Given the description of an element on the screen output the (x, y) to click on. 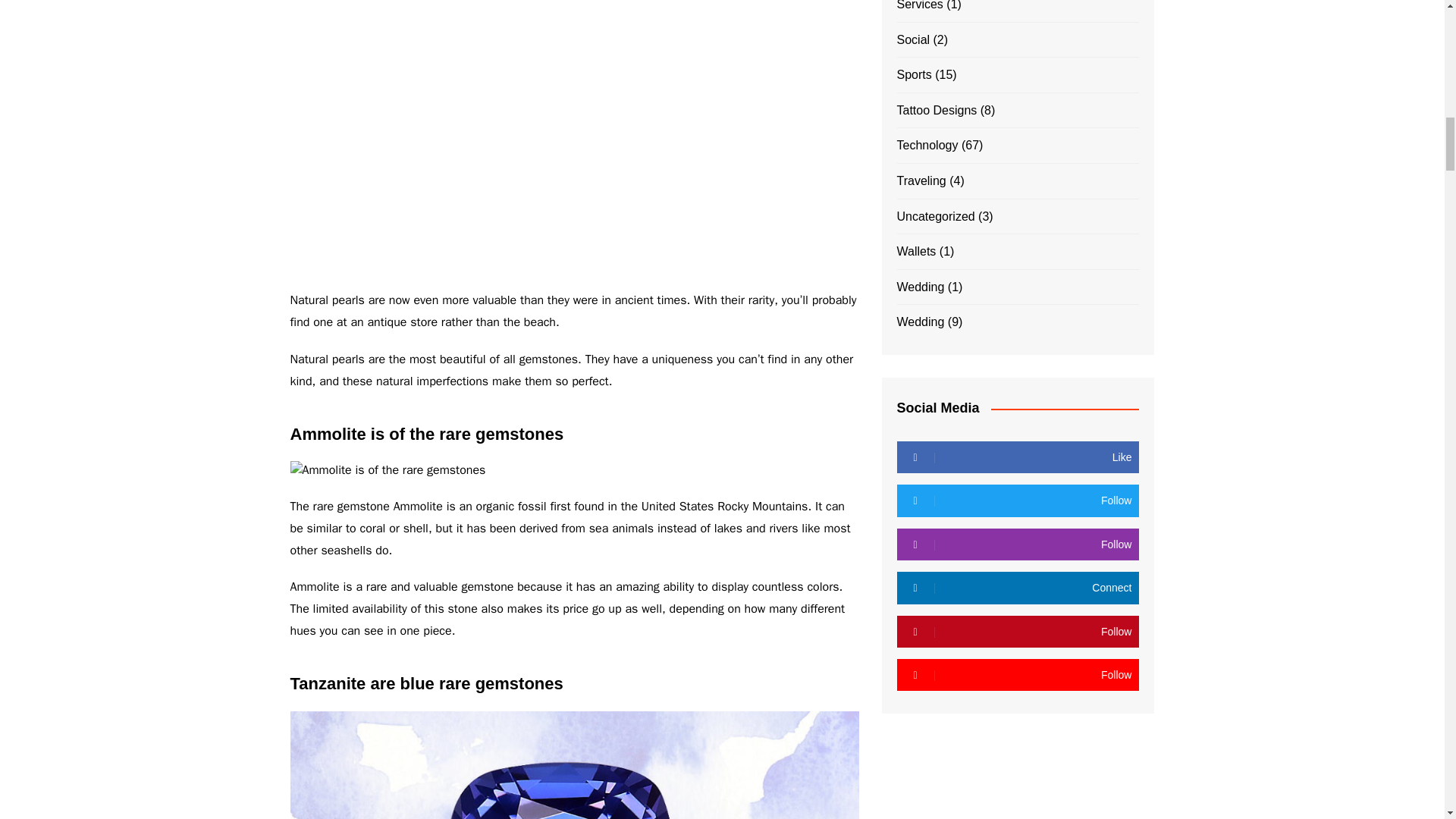
image-30 - News Home (516, 137)
image-32 - News Home (574, 765)
image-31 - News Home (386, 470)
